Given the description of an element on the screen output the (x, y) to click on. 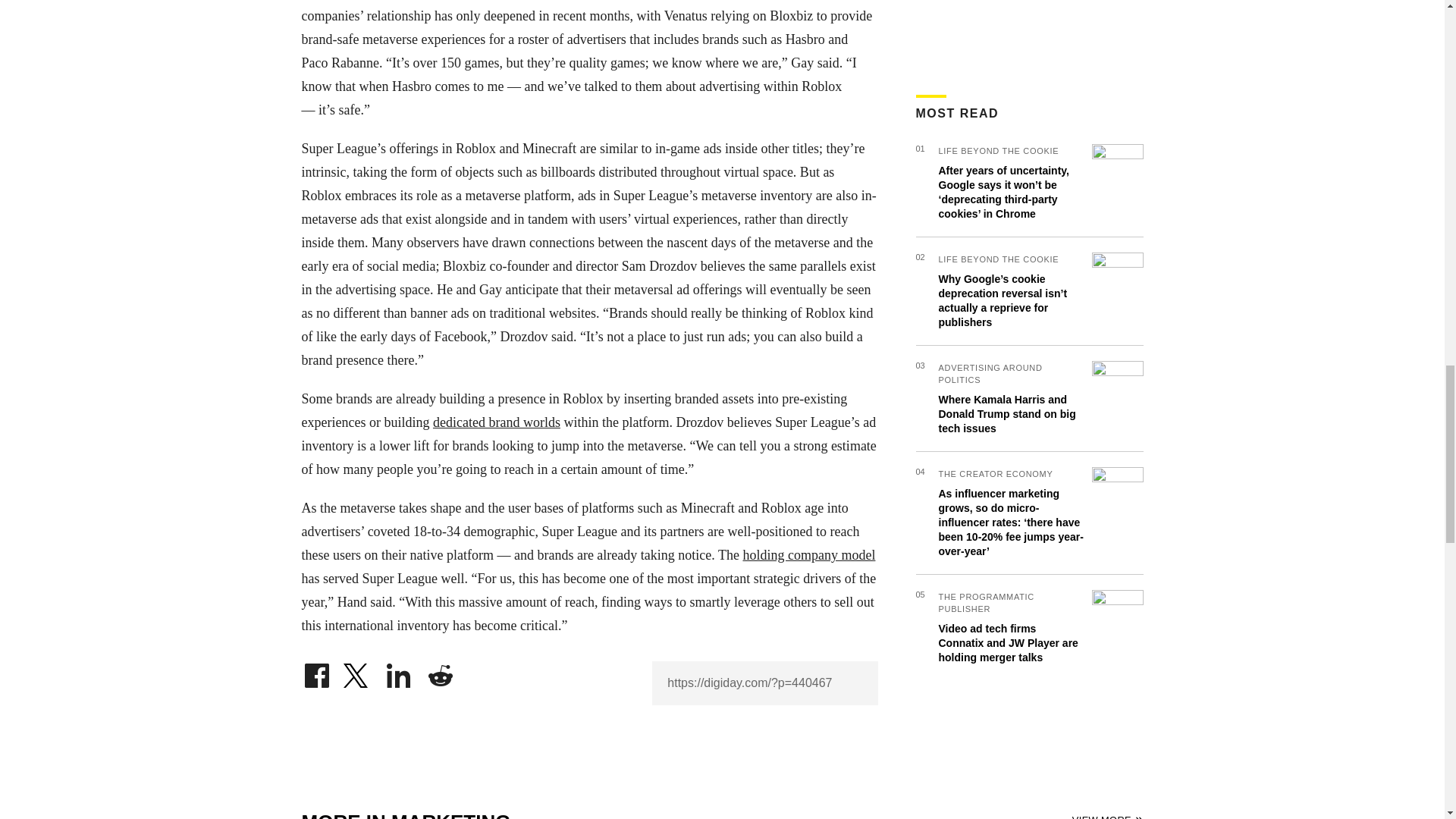
Share on LinkedIn (398, 671)
Share on Reddit (440, 671)
Share on Twitter (357, 671)
Share on Facebook (316, 671)
